Given the description of an element on the screen output the (x, y) to click on. 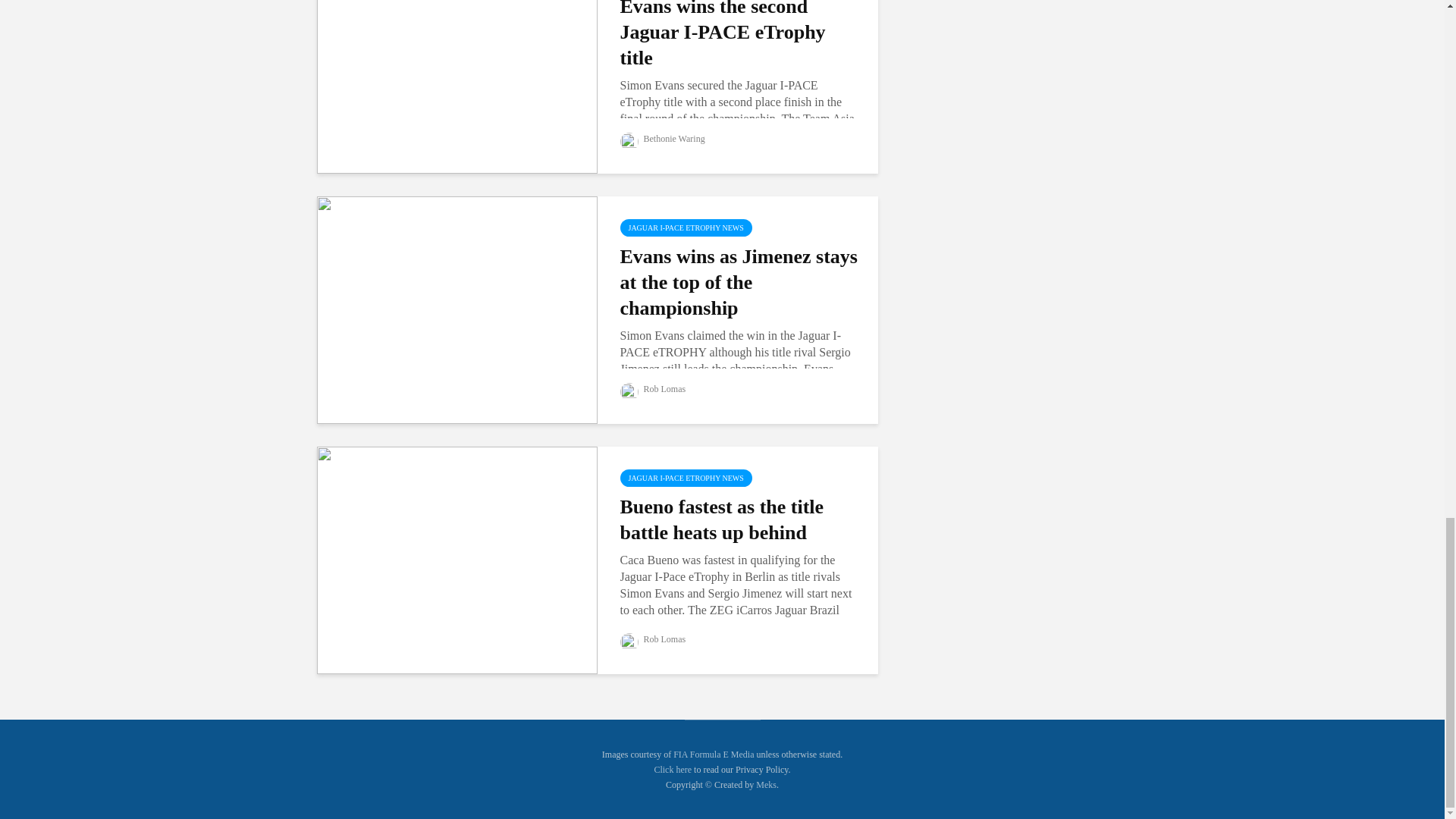
Evans wins as Jimenez stays at the top of the championship (456, 308)
Evans wins the second Jaguar I-PACE eTrophy title (456, 58)
Bueno fastest as the title battle heats up behind (456, 558)
